Given the description of an element on the screen output the (x, y) to click on. 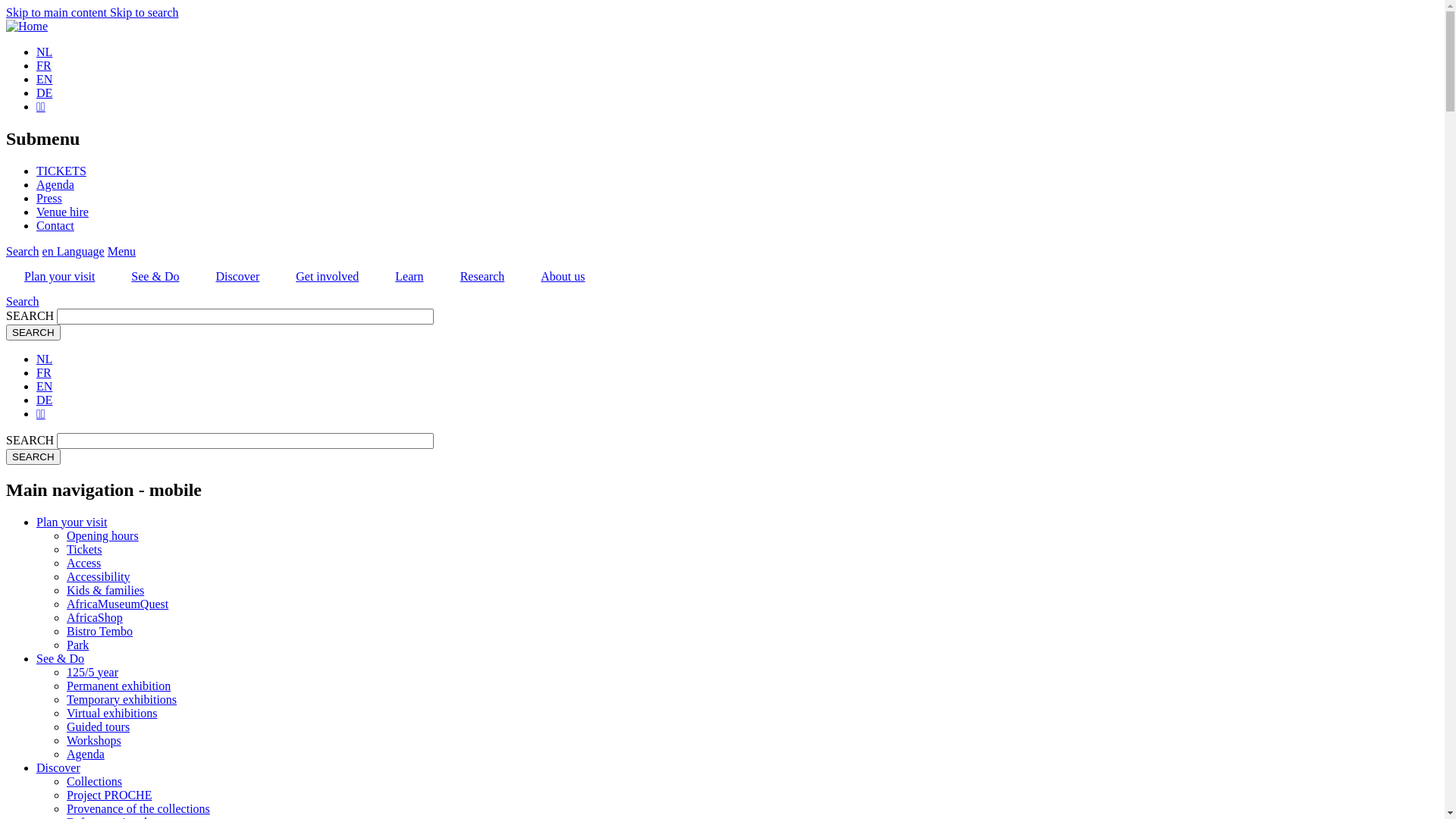
Get involved Element type: text (326, 276)
NL Element type: text (44, 51)
Research Element type: text (482, 276)
Tickets Element type: text (84, 548)
Kids & families Element type: text (105, 589)
Press Element type: text (49, 197)
EN Element type: text (44, 385)
DE Element type: text (44, 399)
Contact Element type: text (55, 225)
Project PROCHE Element type: text (108, 794)
Skip to search Element type: text (143, 12)
See & Do Element type: text (154, 276)
Plan your visit Element type: text (59, 276)
Provenance of the collections Element type: text (138, 808)
SEARCH Element type: text (33, 332)
About us Element type: text (562, 276)
FR Element type: text (43, 372)
Guided tours Element type: text (97, 726)
AfricaShop Element type: text (94, 617)
Collections Element type: text (94, 781)
AfricaMuseumQuest Element type: text (117, 603)
Temporary exhibitions Element type: text (121, 699)
FR Element type: text (43, 65)
Plan your visit Element type: text (71, 521)
Search Element type: text (22, 250)
EN Element type: text (44, 78)
Agenda Element type: text (85, 753)
Agenda Element type: text (55, 184)
Venue hire Element type: text (62, 211)
Discover Element type: text (237, 276)
Opening hours Element type: text (102, 535)
DE Element type: text (44, 92)
SEARCH Element type: text (33, 456)
Menu Element type: text (121, 250)
Skip to main content Element type: text (57, 12)
Bistro Tembo Element type: text (99, 630)
Access Element type: text (83, 562)
Search Element type: text (22, 300)
NL Element type: text (44, 358)
Accessibility Element type: text (98, 576)
Discover Element type: text (58, 767)
125/5 year Element type: text (92, 671)
Learn Element type: text (408, 276)
Permanent exhibition Element type: text (118, 685)
See & Do Element type: text (60, 658)
Park Element type: text (77, 644)
Virtual exhibitions Element type: text (111, 712)
en Language Element type: text (73, 250)
Workshops Element type: text (93, 740)
TICKETS Element type: text (61, 170)
